Given the description of an element on the screen output the (x, y) to click on. 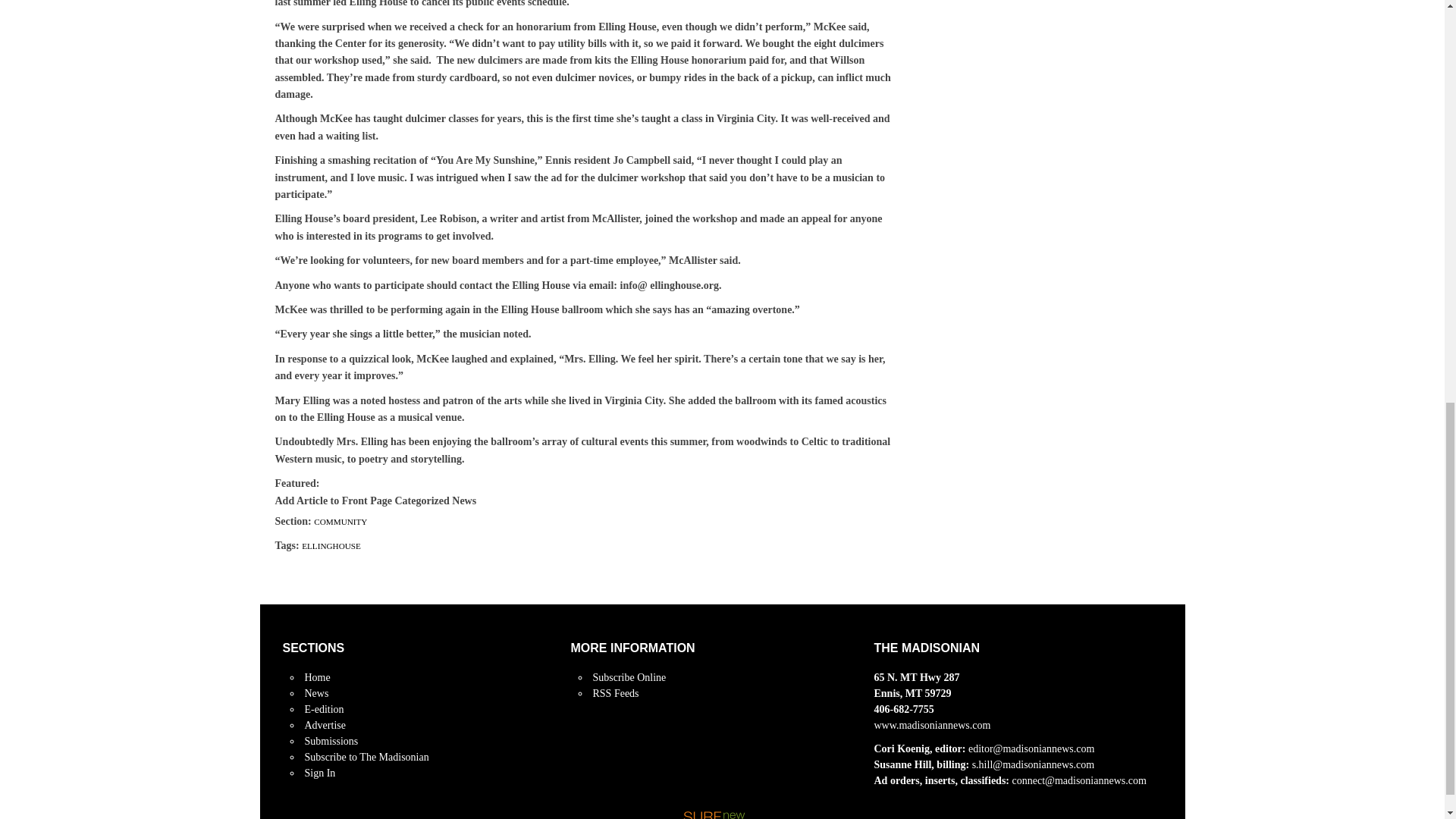
Home (317, 677)
ELLINGHOUSE (331, 545)
News (316, 693)
E-edition (323, 708)
COMMUNITY (340, 521)
Advertise (325, 725)
News (316, 693)
